Given the description of an element on the screen output the (x, y) to click on. 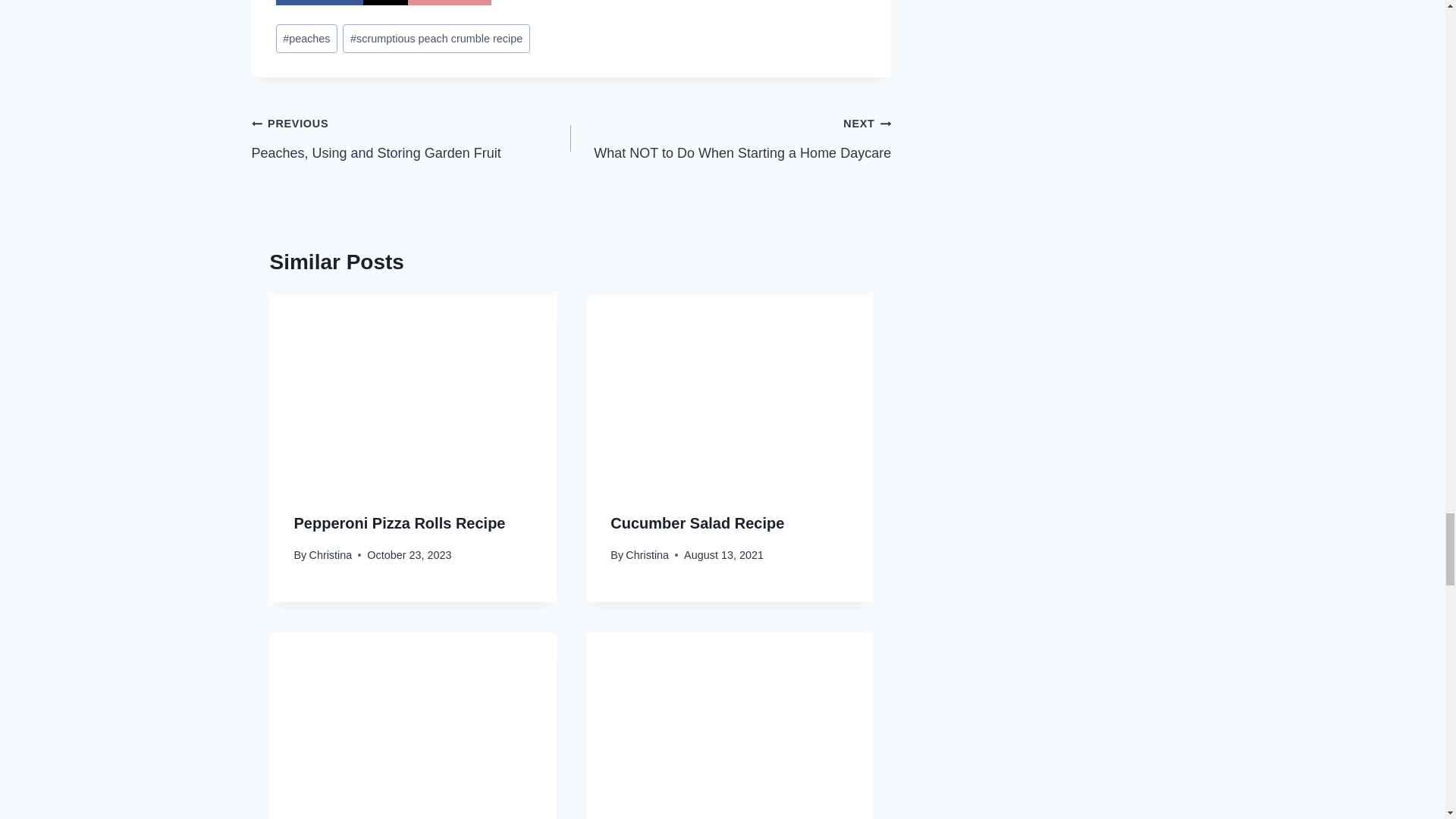
Facebook (319, 2)
peaches (730, 137)
X (306, 38)
Share on Facebook (384, 2)
scrumptious peach crumble recipe (319, 2)
Christina (411, 137)
Share on X (435, 38)
Pepperoni Pizza Rolls Recipe (330, 554)
Pinterest (384, 2)
Save to Pinterest (399, 523)
